Given the description of an element on the screen output the (x, y) to click on. 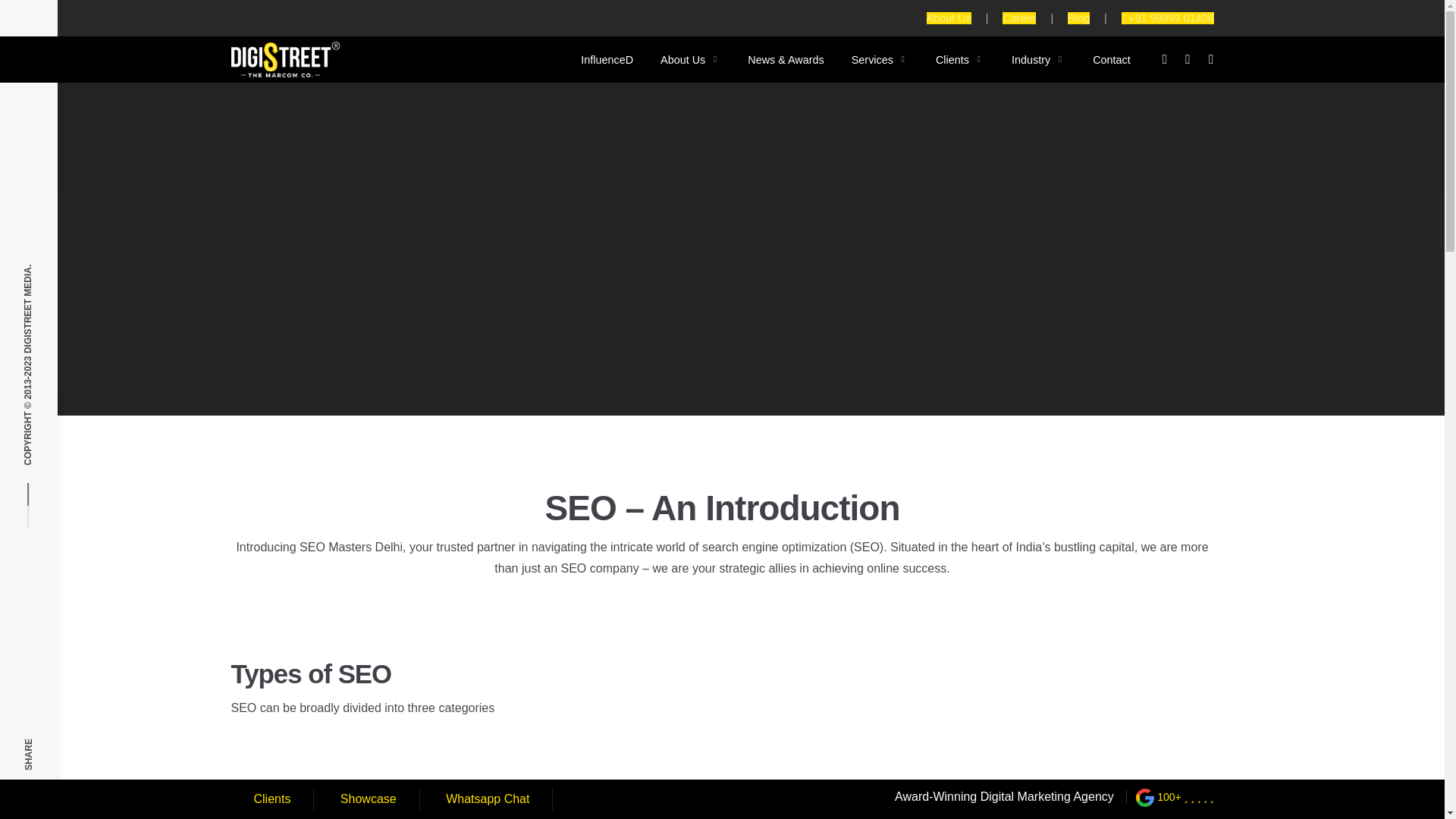
About Us (948, 18)
Blog (1078, 18)
InfluenceD (606, 59)
Career (1019, 18)
About Us (682, 59)
Services (872, 59)
